Given the description of an element on the screen output the (x, y) to click on. 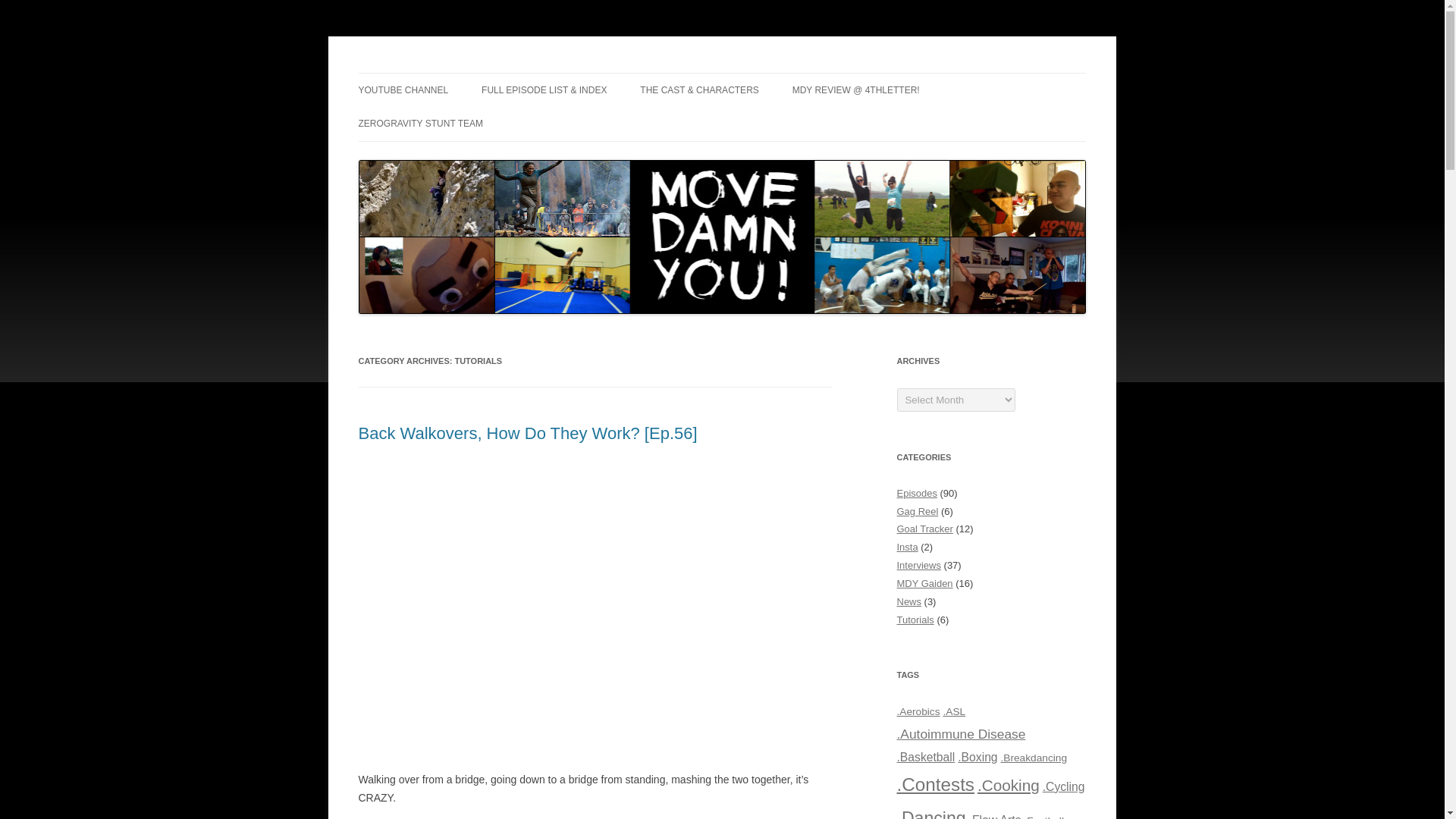
Move Damn You! (436, 72)
ZEROGRAVITY STUNT TEAM (419, 123)
Move Damn You! (436, 72)
YOUTUBE CHANNEL (403, 90)
